Given the description of an element on the screen output the (x, y) to click on. 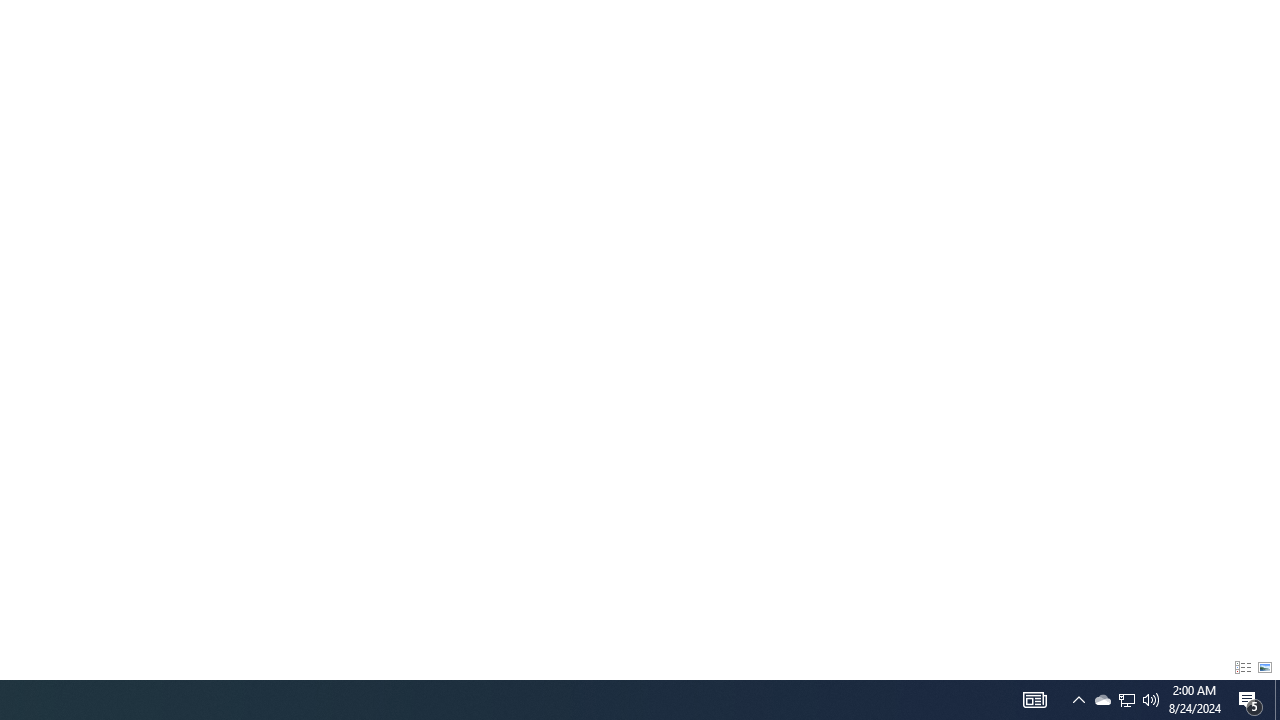
Details (1242, 667)
Large Icons (1265, 667)
